Given the description of an element on the screen output the (x, y) to click on. 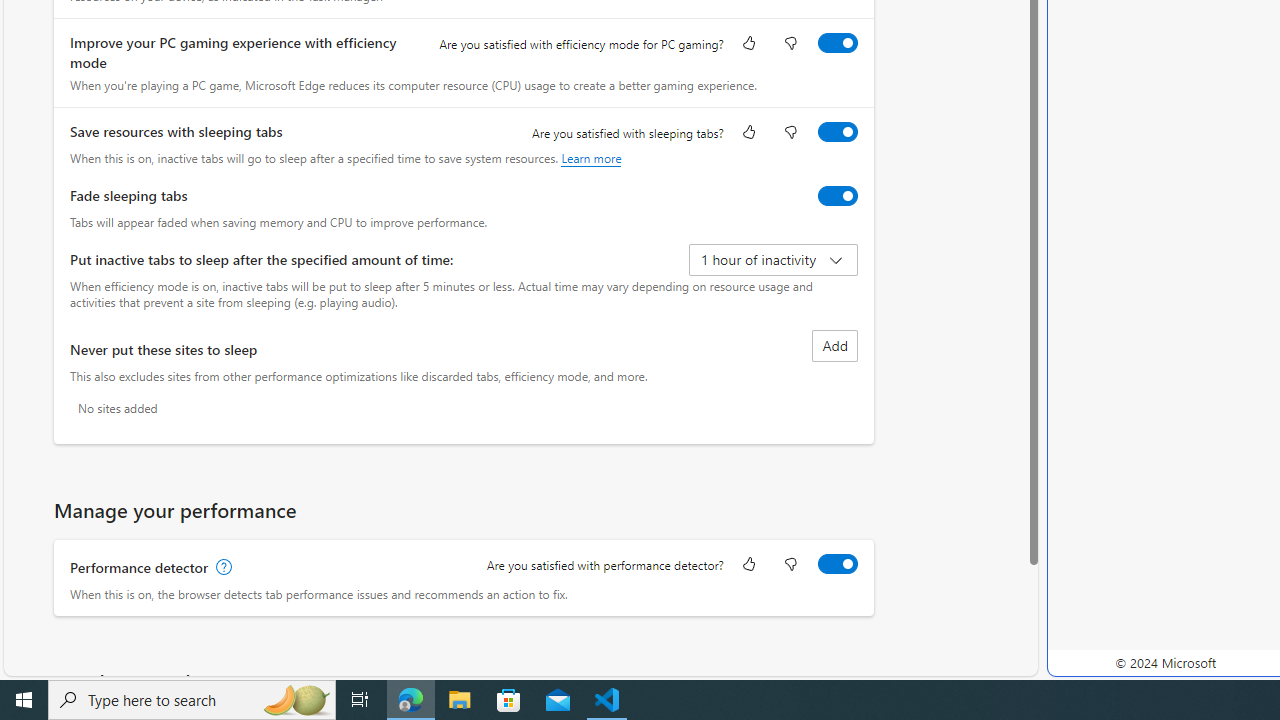
Learn more (591, 158)
Fade sleeping tabs (837, 195)
Save resources with sleeping tabs (837, 131)
Add site to never put these sites to sleep list (834, 345)
Performance detector, learn more (221, 567)
Performance detector (837, 563)
Improve your PC gaming experience with efficiency mode (837, 43)
